Given the description of an element on the screen output the (x, y) to click on. 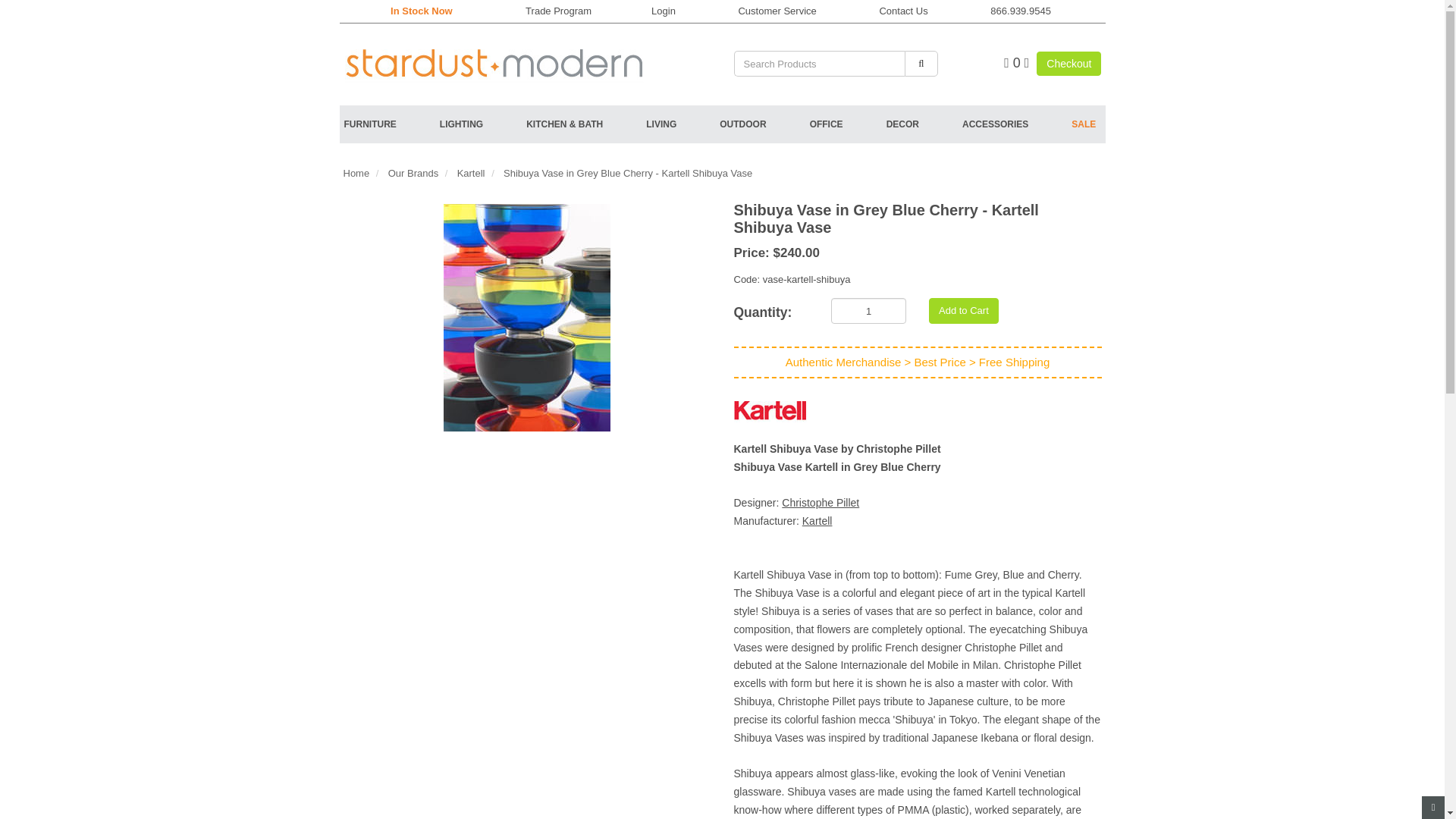
Go to the Home page. (496, 58)
FURNITURE (391, 124)
866.939.9545 (1020, 10)
Checkout (1068, 63)
Quantity (770, 309)
Trade Program (558, 10)
Customer Service (776, 10)
Login (662, 10)
Contact Us (903, 10)
In Stock Now (421, 10)
